Given the description of an element on the screen output the (x, y) to click on. 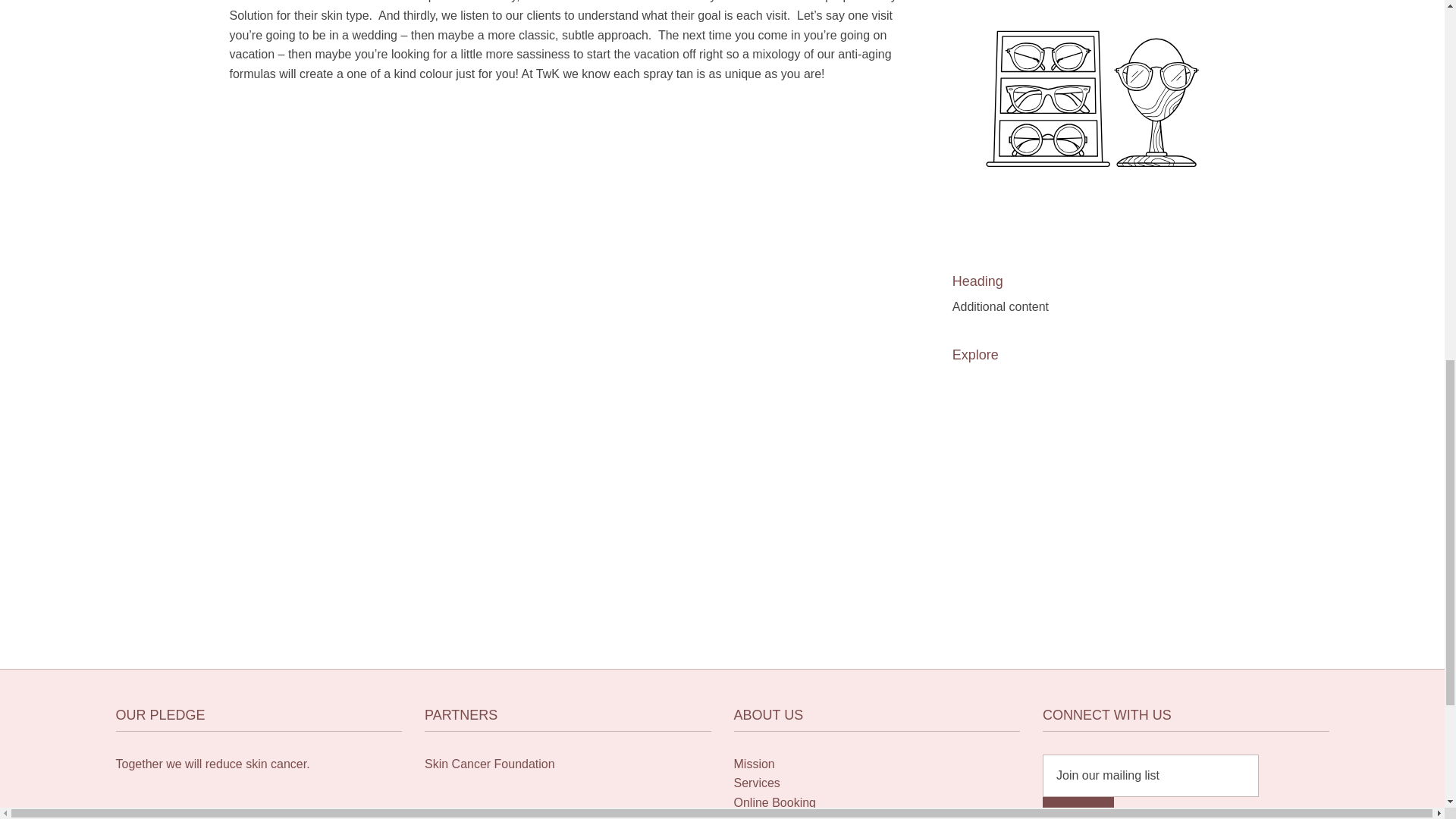
Join (1077, 807)
